Given the description of an element on the screen output the (x, y) to click on. 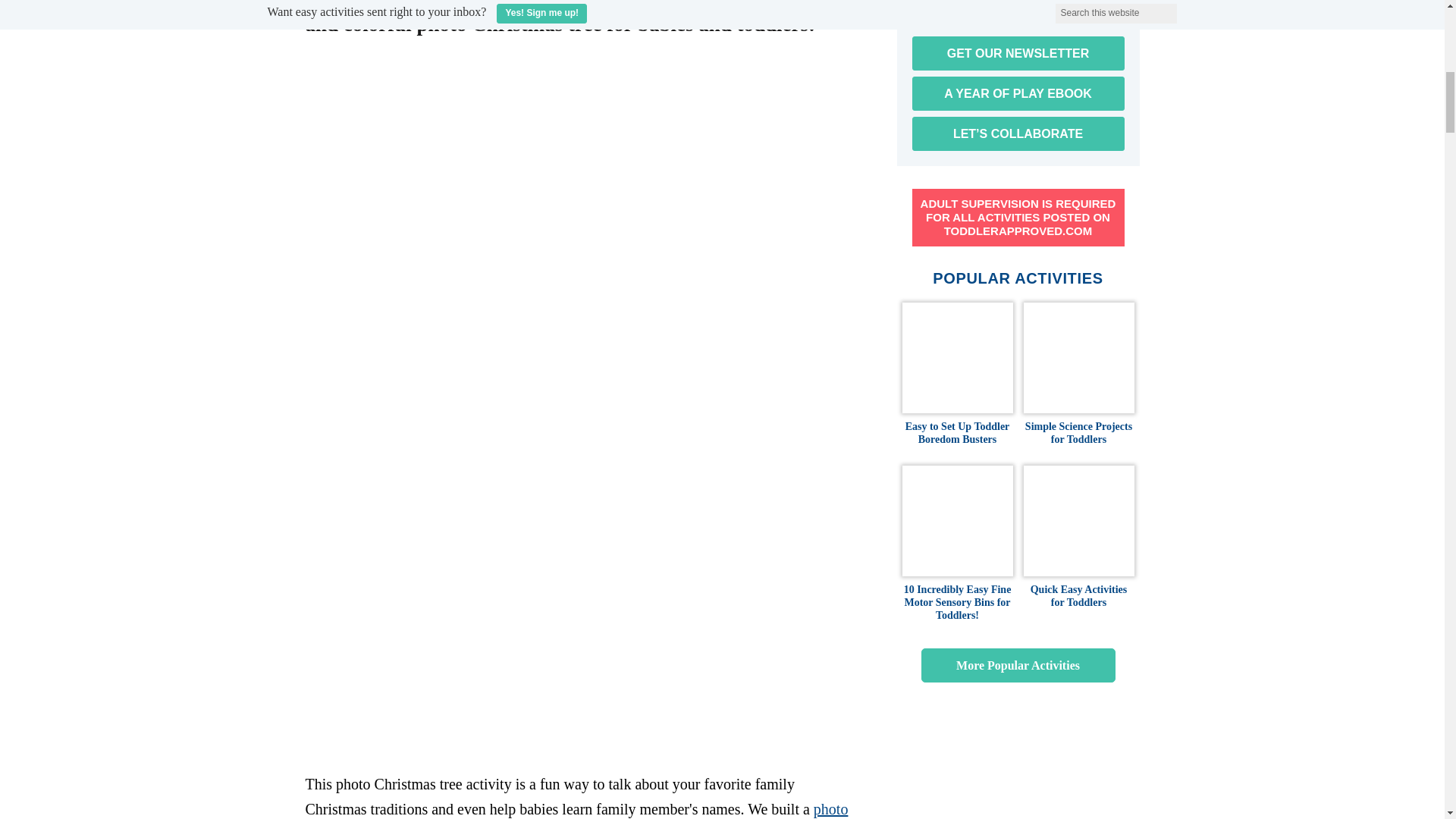
Most Popular (1017, 665)
